Given the description of an element on the screen output the (x, y) to click on. 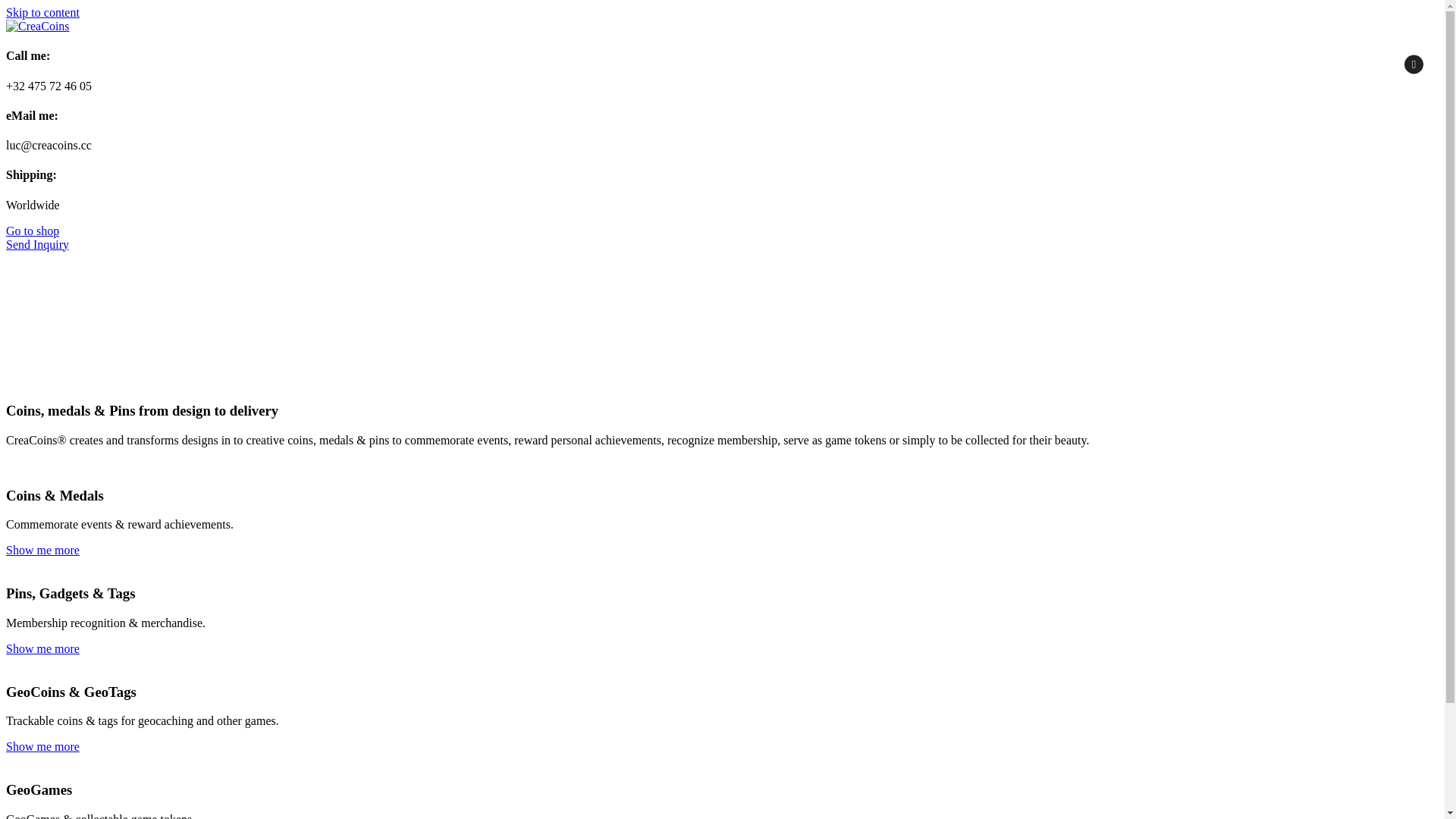
Send Inquiry Element type: text (37, 244)
Skip to content Element type: text (42, 12)
Show me more Element type: text (42, 648)
close Element type: text (1413, 63)
Go to shop Element type: text (32, 230)
Show me more Element type: text (42, 549)
Show me more Element type: text (42, 746)
